Given the description of an element on the screen output the (x, y) to click on. 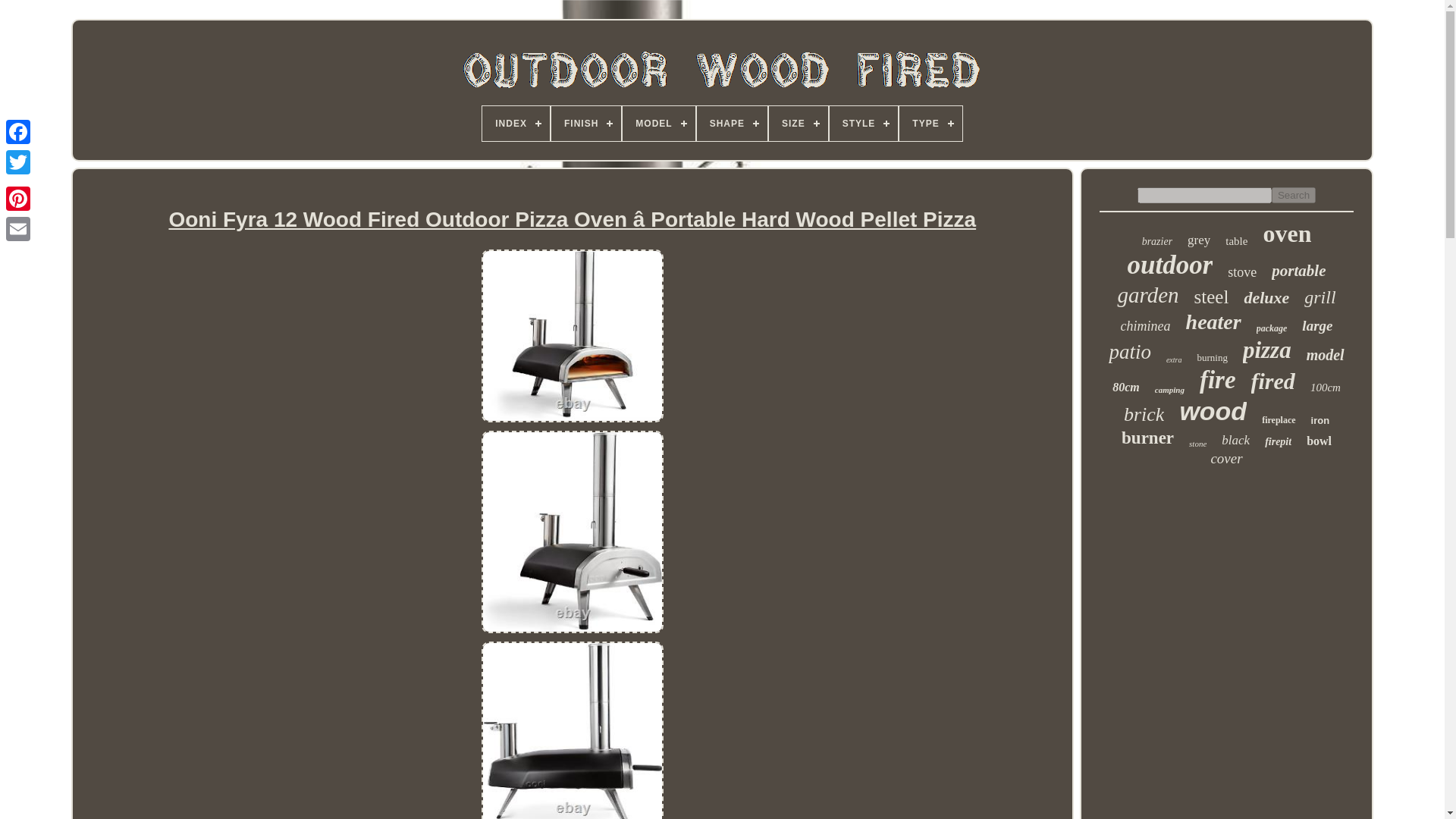
MODEL (658, 123)
INDEX (515, 123)
FINISH (586, 123)
Search (1293, 195)
